Given the description of an element on the screen output the (x, y) to click on. 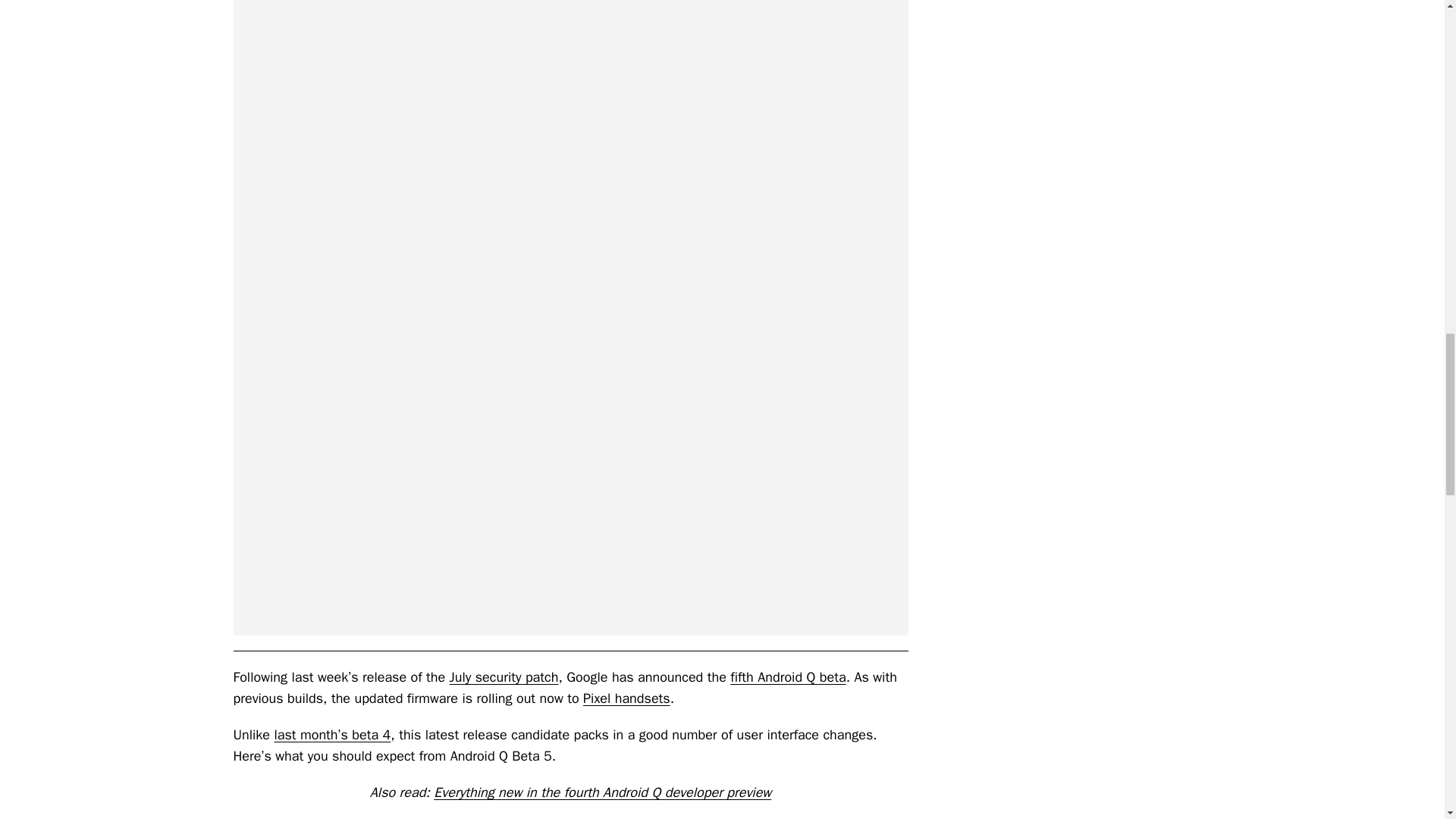
Everything new in the fourth Android Q developer preview (602, 791)
July security patch (504, 677)
Pixel handsets (626, 698)
fifth Android Q beta (787, 677)
